Given the description of an element on the screen output the (x, y) to click on. 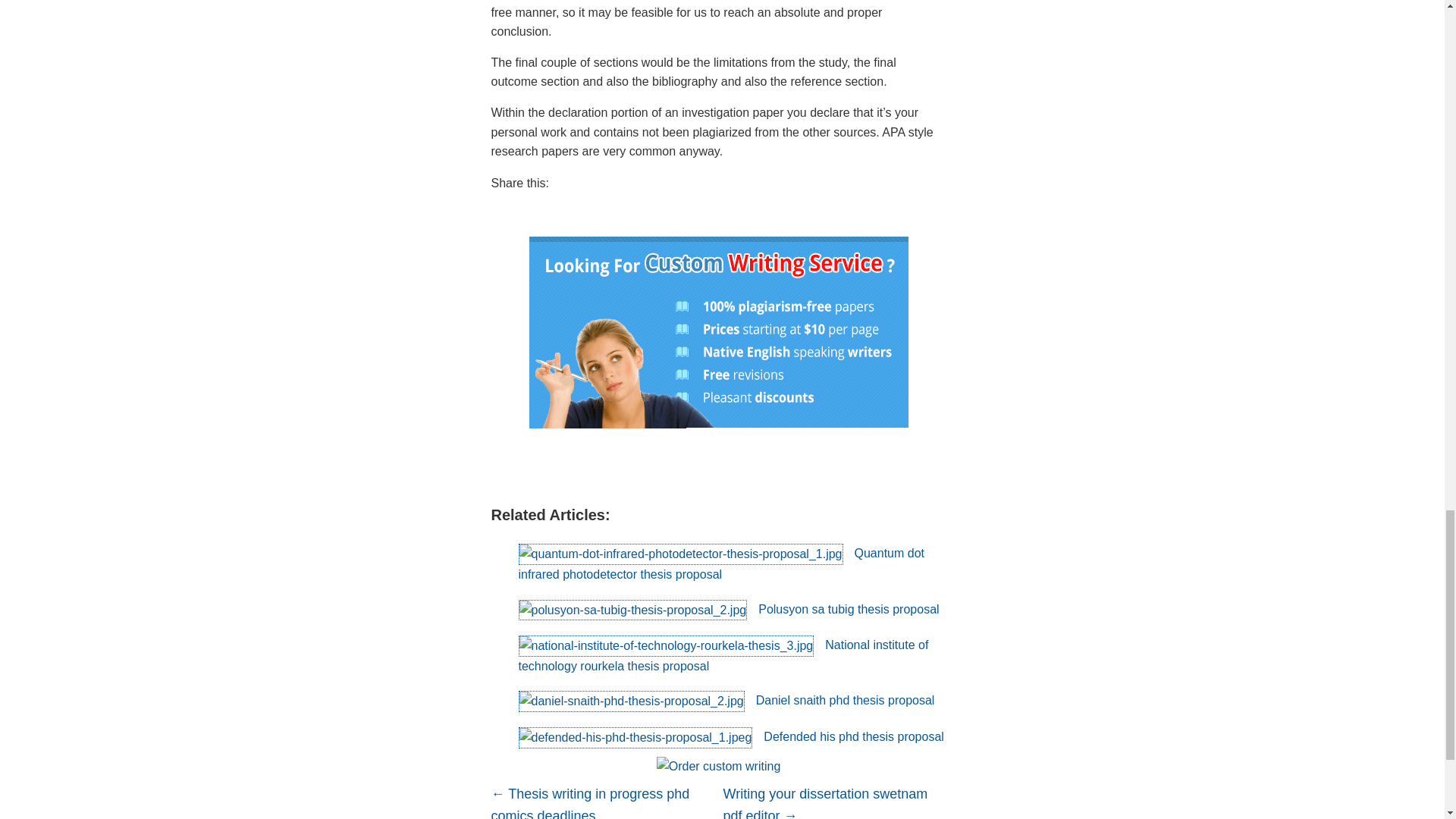
Defended his phd thesis proposal (730, 736)
National institute of technology rourkela thesis proposal (723, 655)
Quantum dot infrared photodetector thesis proposal (721, 563)
Daniel snaith phd thesis proposal (726, 699)
Polusyon sa tubig thesis proposal (728, 608)
